Given the description of an element on the screen output the (x, y) to click on. 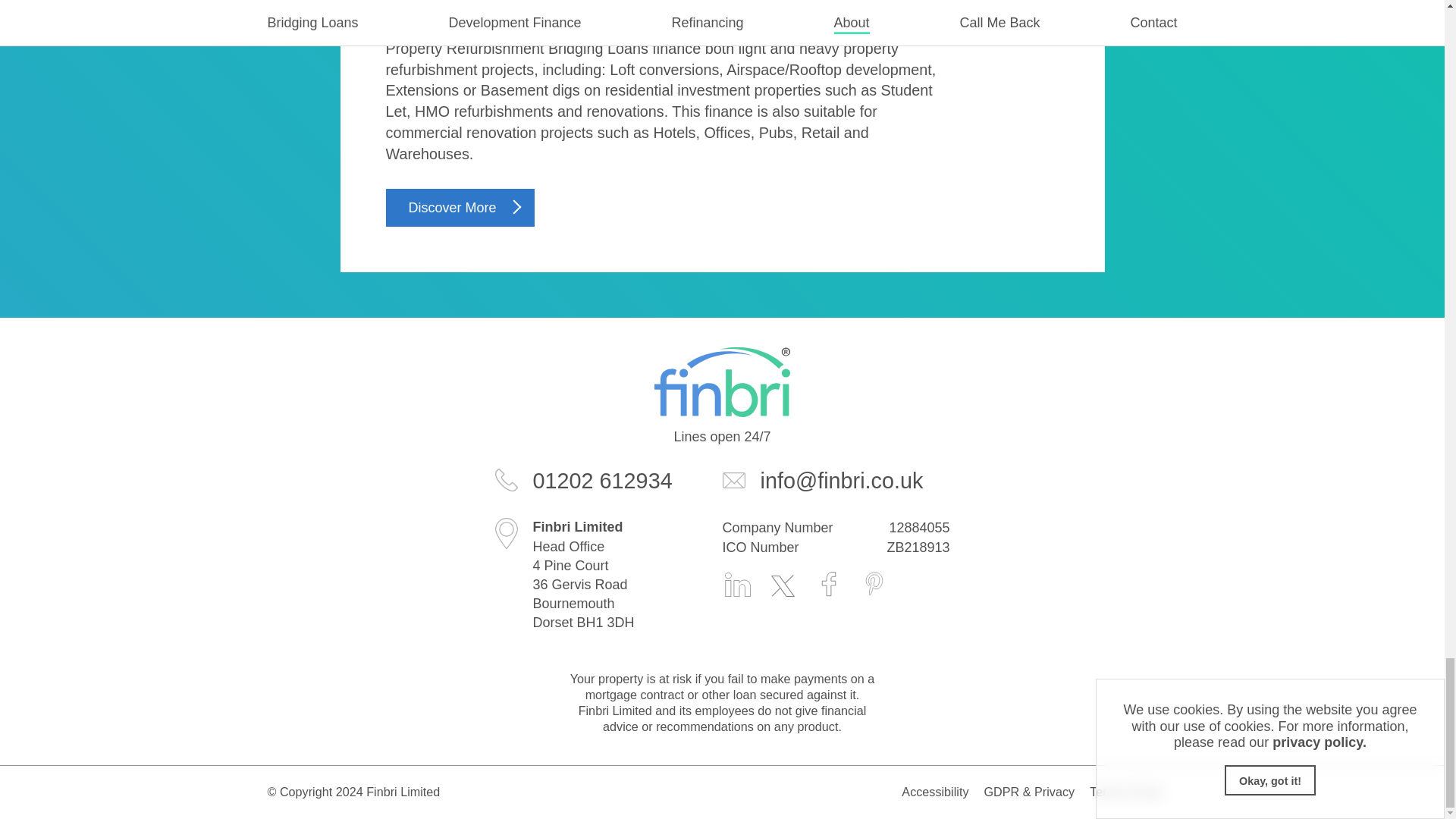
Terms of Use (1125, 791)
Facebook (827, 581)
Accessibility (934, 791)
01202 612934 (608, 480)
Discover More (459, 207)
Property Refurbishment Loans (551, 10)
Pinterest (873, 581)
LinkedIn (737, 581)
